Given the description of an element on the screen output the (x, y) to click on. 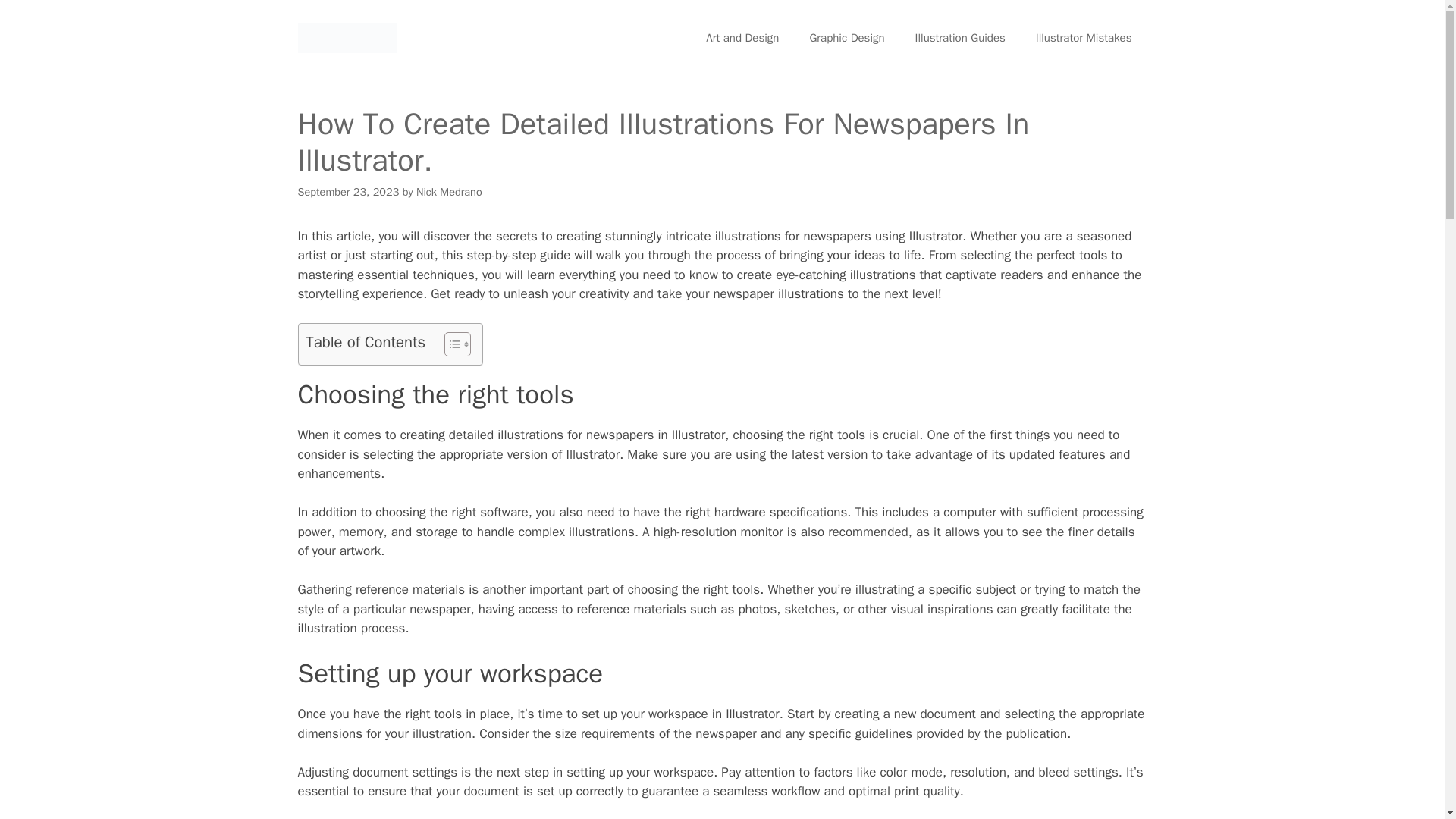
Illustration Guides (959, 37)
Nick Medrano (448, 192)
Graphic Design (846, 37)
View all posts by Nick Medrano (448, 192)
Illustrator Mistakes (1083, 37)
Art and Design (741, 37)
